Given the description of an element on the screen output the (x, y) to click on. 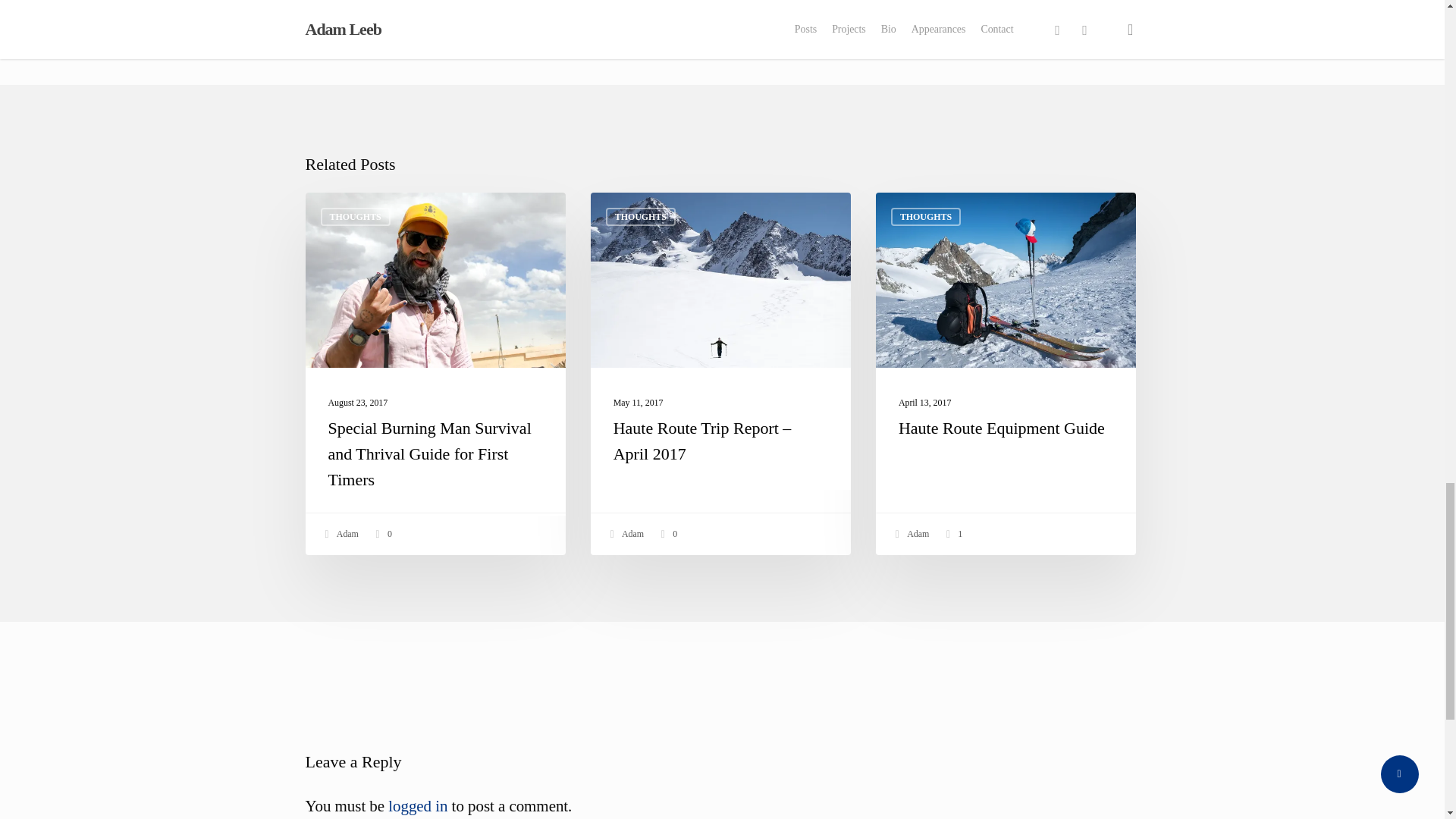
THOUGHTS (355, 217)
Adam (339, 534)
THOUGHTS (640, 217)
Adam (625, 534)
